Given the description of an element on the screen output the (x, y) to click on. 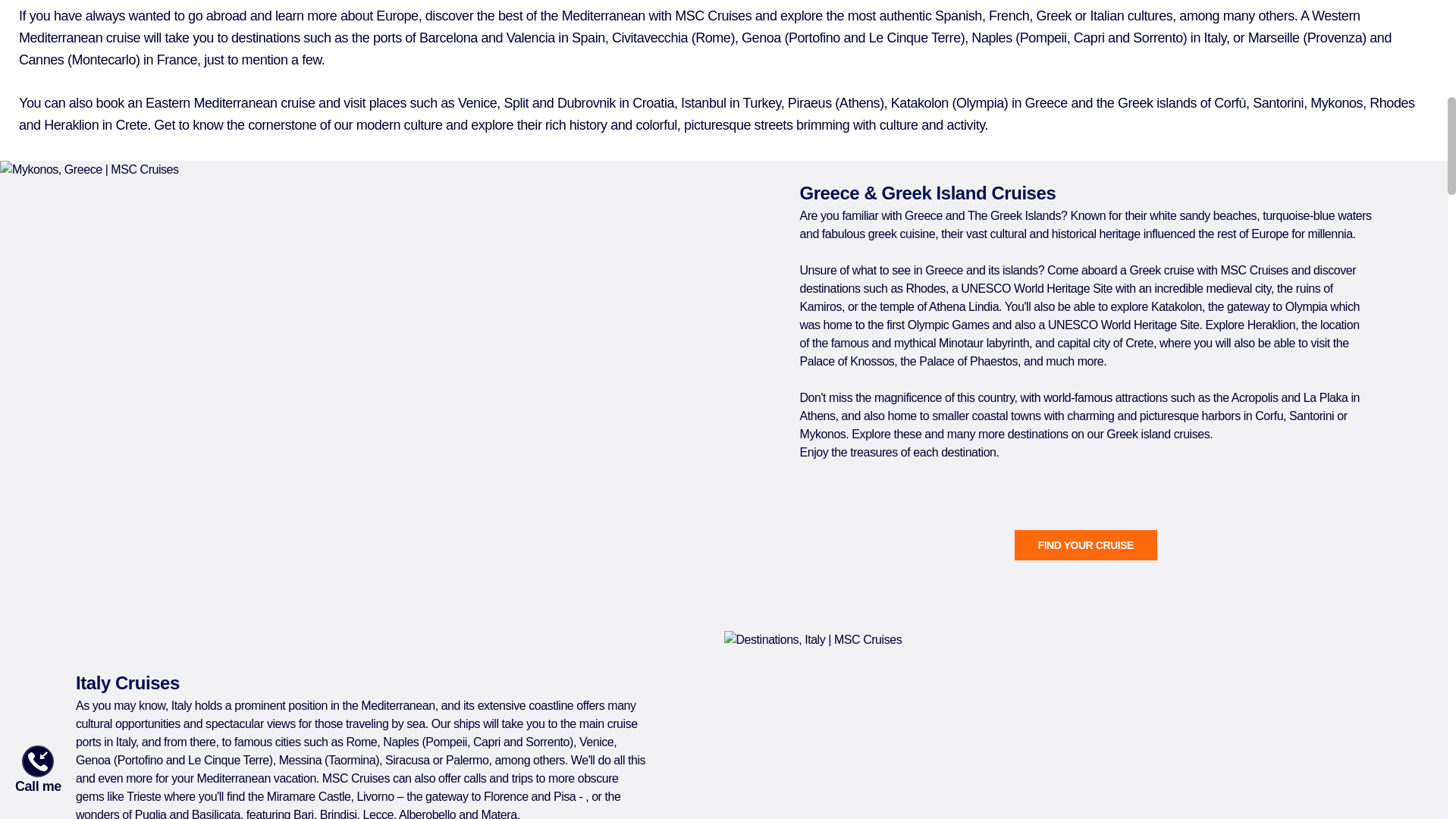
FIND YOUR CRUISE (1085, 544)
